Given the description of an element on the screen output the (x, y) to click on. 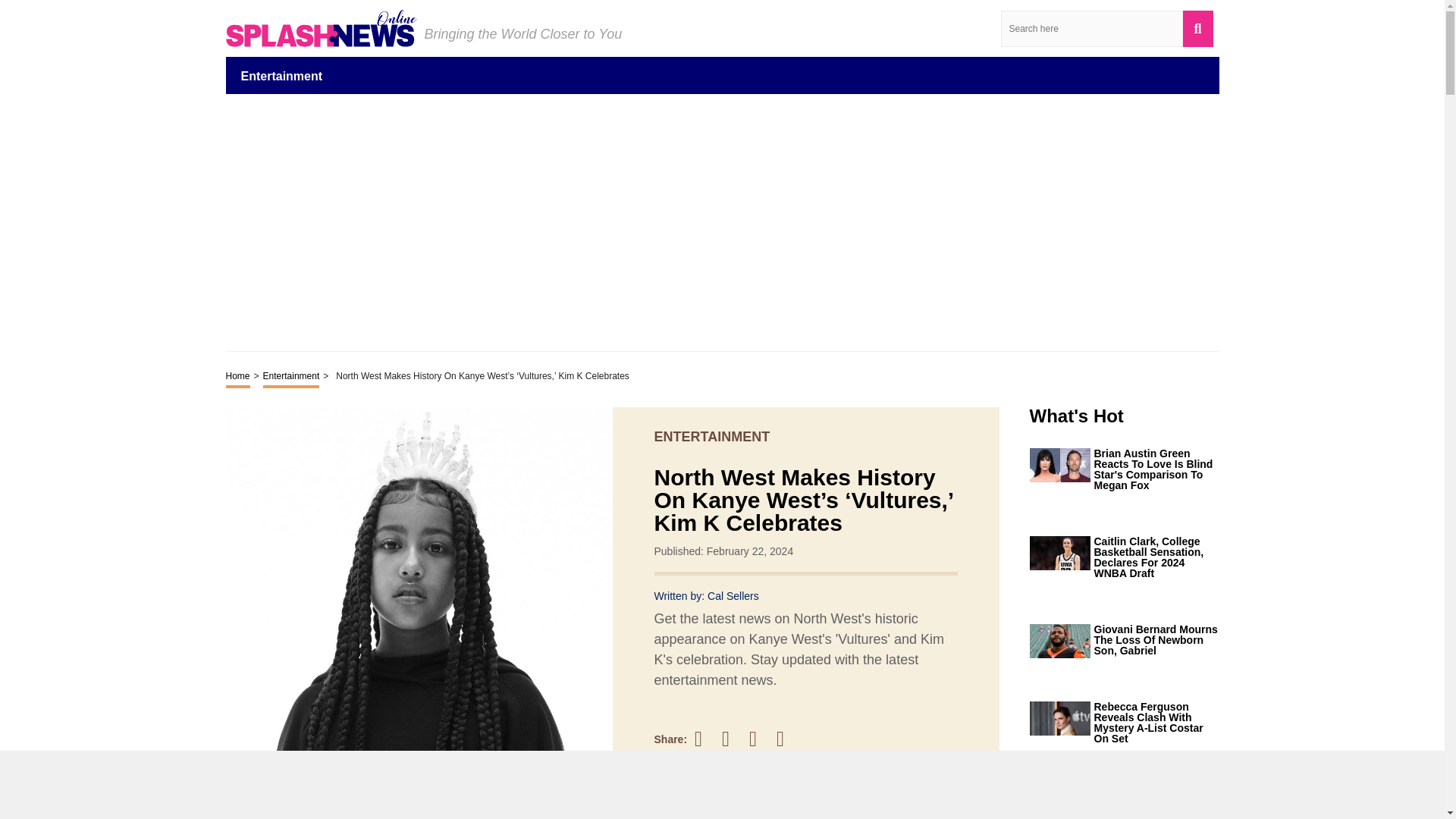
Entertainment (282, 74)
Giovani Bernard Mourns The Loss Of Newborn Son, Gabriel (1155, 640)
Cal Sellers (732, 595)
Anson Mount: From Hollywood Success To Recent Roles (1155, 804)
Share on Twitter (732, 739)
Share on WhatsApp (786, 739)
Share on Facebook (705, 739)
Home (237, 377)
